Given the description of an element on the screen output the (x, y) to click on. 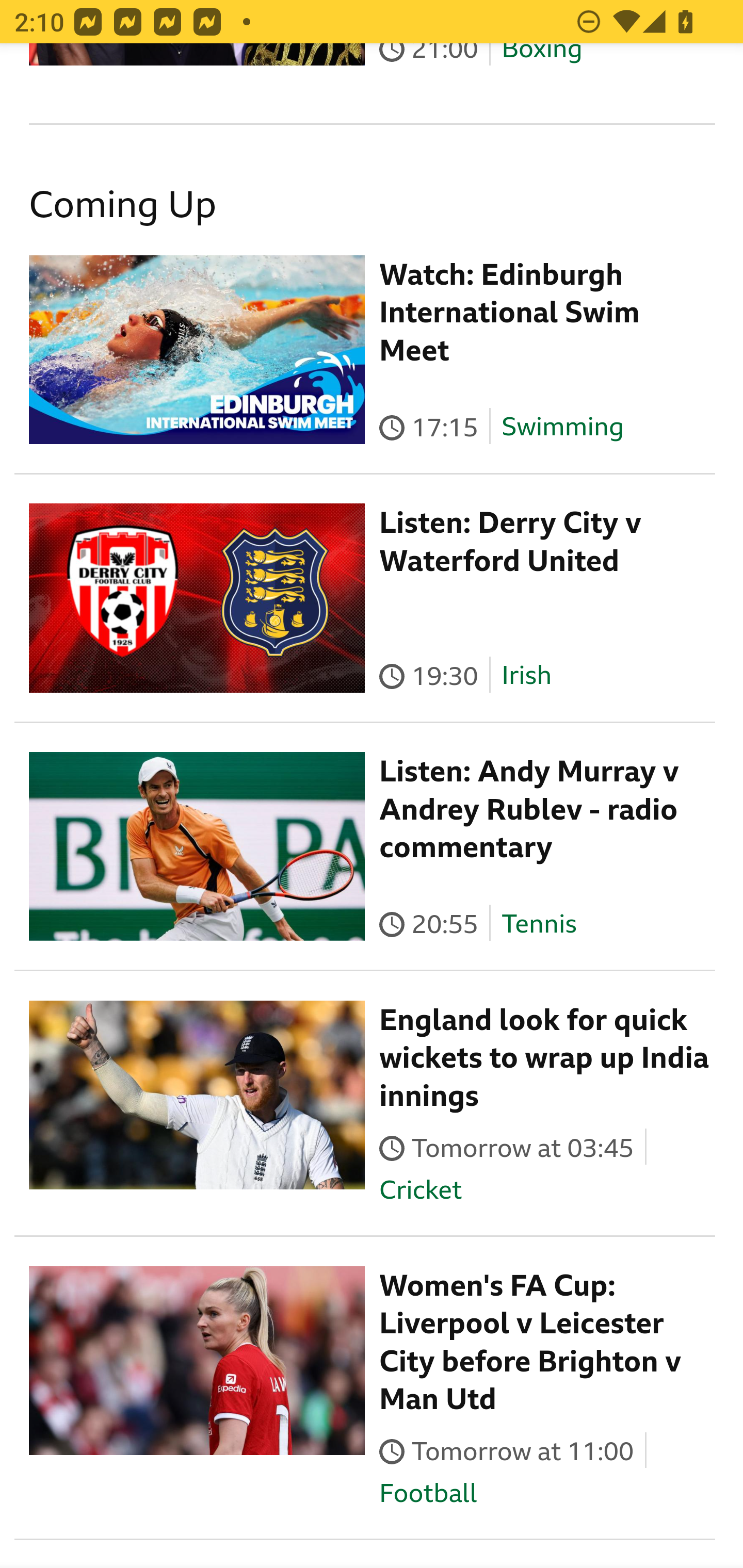
Watch: Edinburgh International Swim Meet (509, 311)
Swimming (562, 426)
Listen: Derry City v Waterford United (510, 541)
Irish (526, 674)
Tennis (539, 923)
Cricket (420, 1188)
Football (428, 1492)
